Given the description of an element on the screen output the (x, y) to click on. 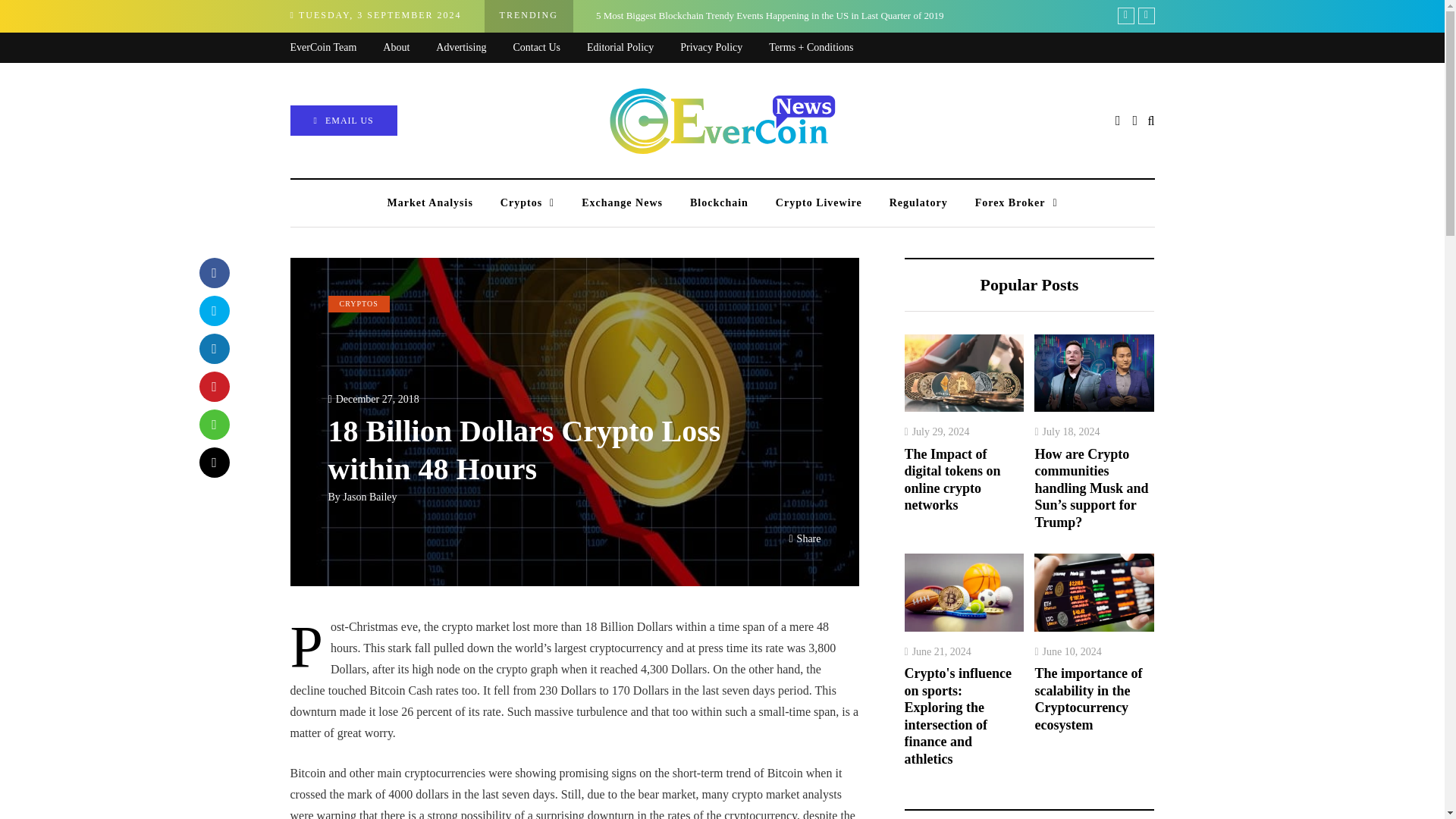
Privacy Policy (723, 47)
Exchange News (622, 202)
EverCoin Team (335, 47)
Market Analysis (429, 202)
Jason Bailey (369, 496)
Share by Email (213, 462)
Share with Facebook (213, 272)
Share with LinkedIn (213, 348)
Regulatory (918, 202)
Contact Us (549, 47)
